Given the description of an element on the screen output the (x, y) to click on. 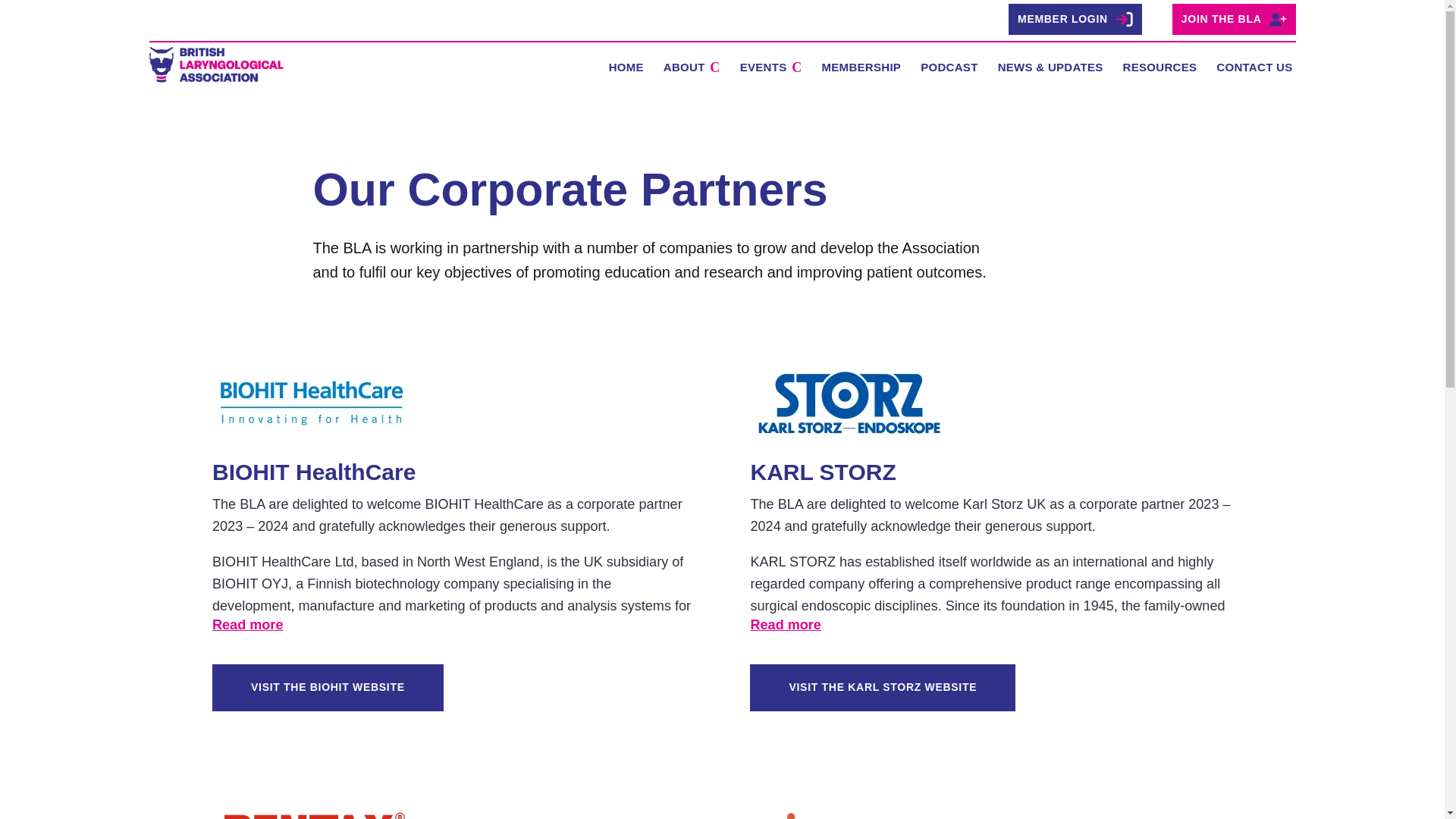
PODCAST (948, 70)
Pentax Medical (311, 808)
MEMBERSHIP (861, 70)
CONTACT US (1253, 70)
Storz (849, 402)
BIOHIT Healthcare (311, 402)
Soluvos Medical (848, 808)
EVENTS (770, 70)
HOME (625, 70)
RESOURCES (1159, 70)
